Given the description of an element on the screen output the (x, y) to click on. 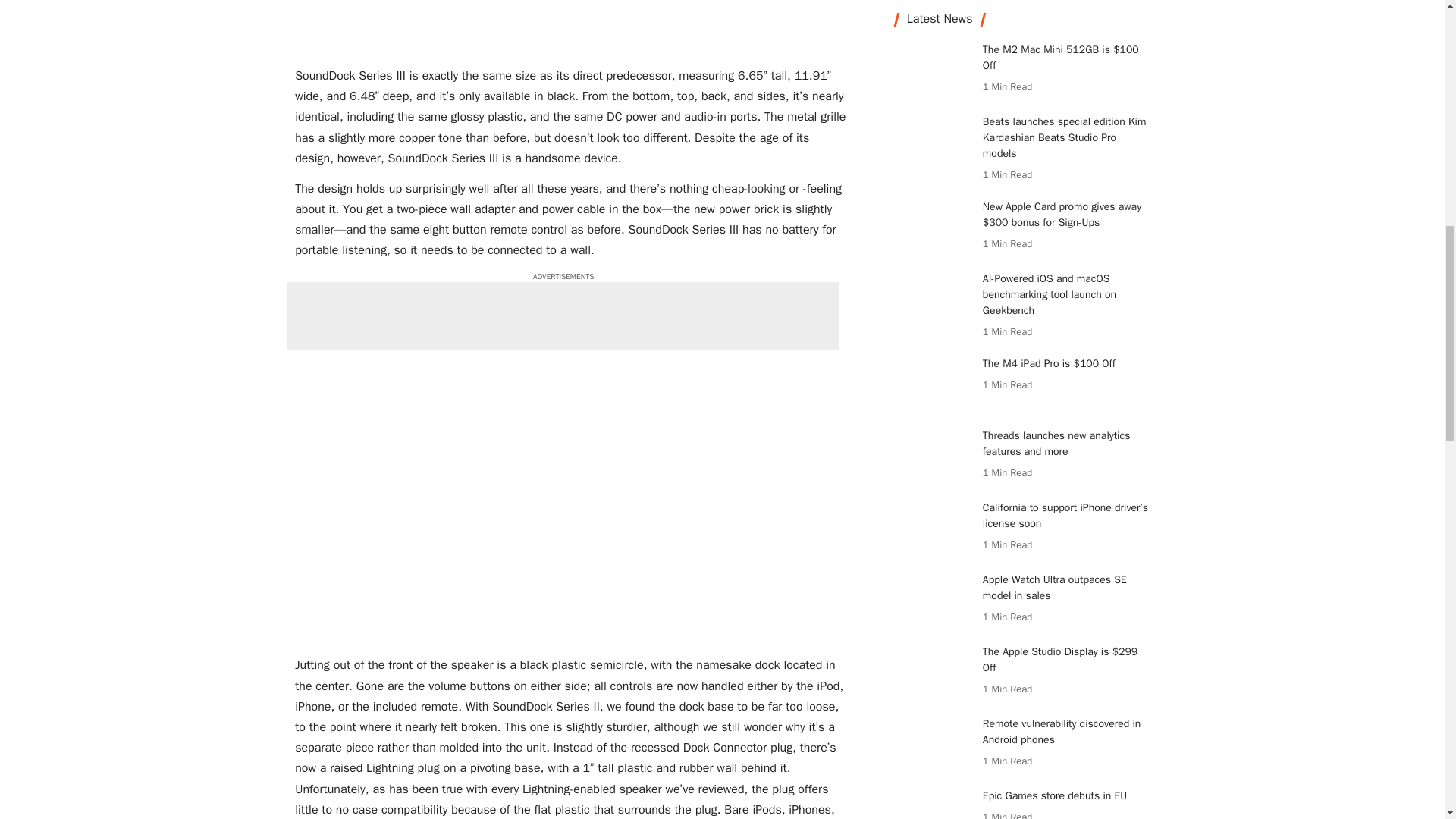
Epic Games store debuts in EU (933, 73)
Remote vulnerability discovered in Android phones (933, 15)
Online leak reveals colors for the iPhone 16 Pro (933, 145)
